Given the description of an element on the screen output the (x, y) to click on. 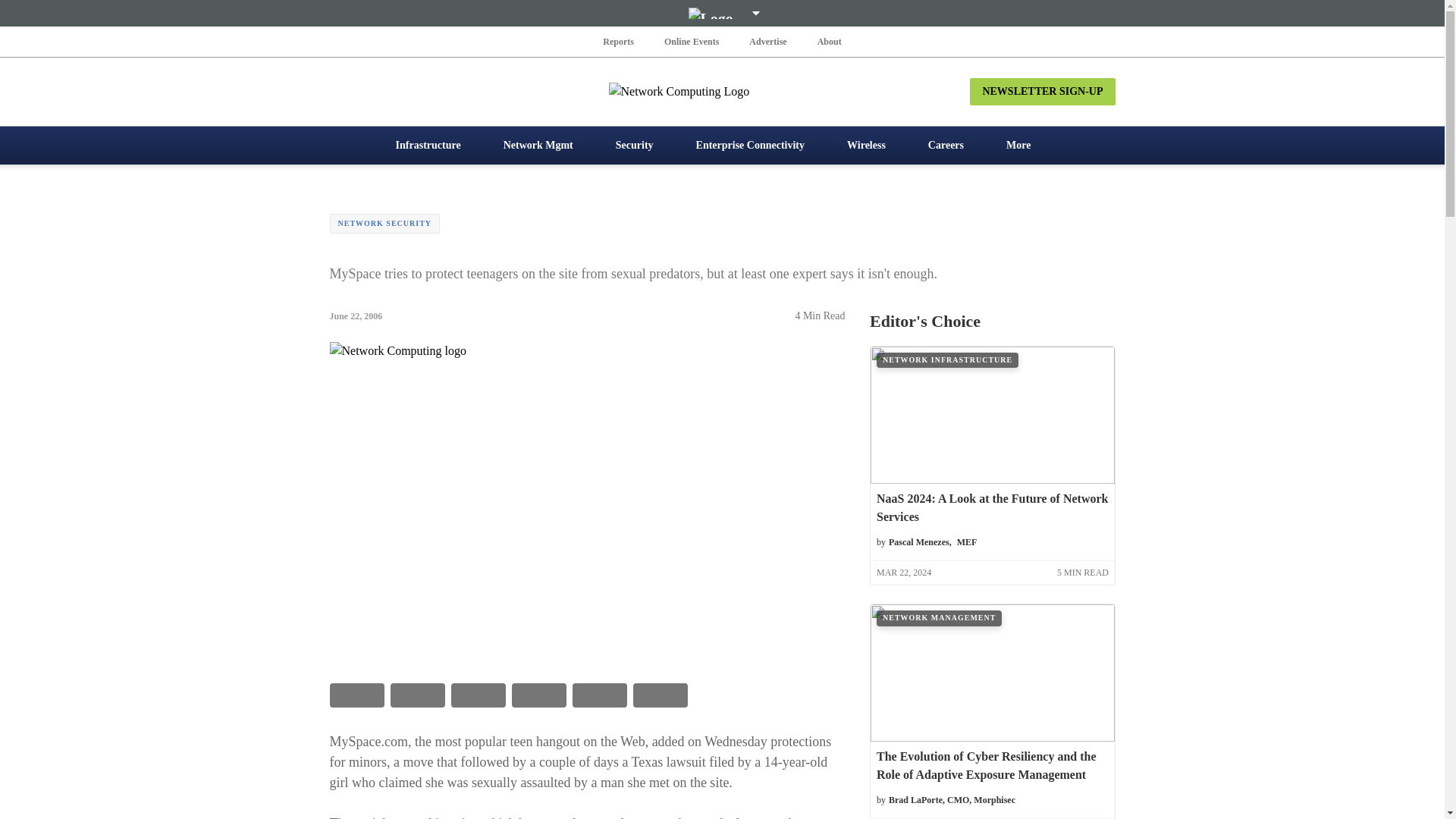
Network Computing Logo (721, 91)
About (828, 41)
Reports (618, 41)
Advertise (767, 41)
Online Events (691, 41)
NEWSLETTER SIGN-UP (1042, 90)
